Given the description of an element on the screen output the (x, y) to click on. 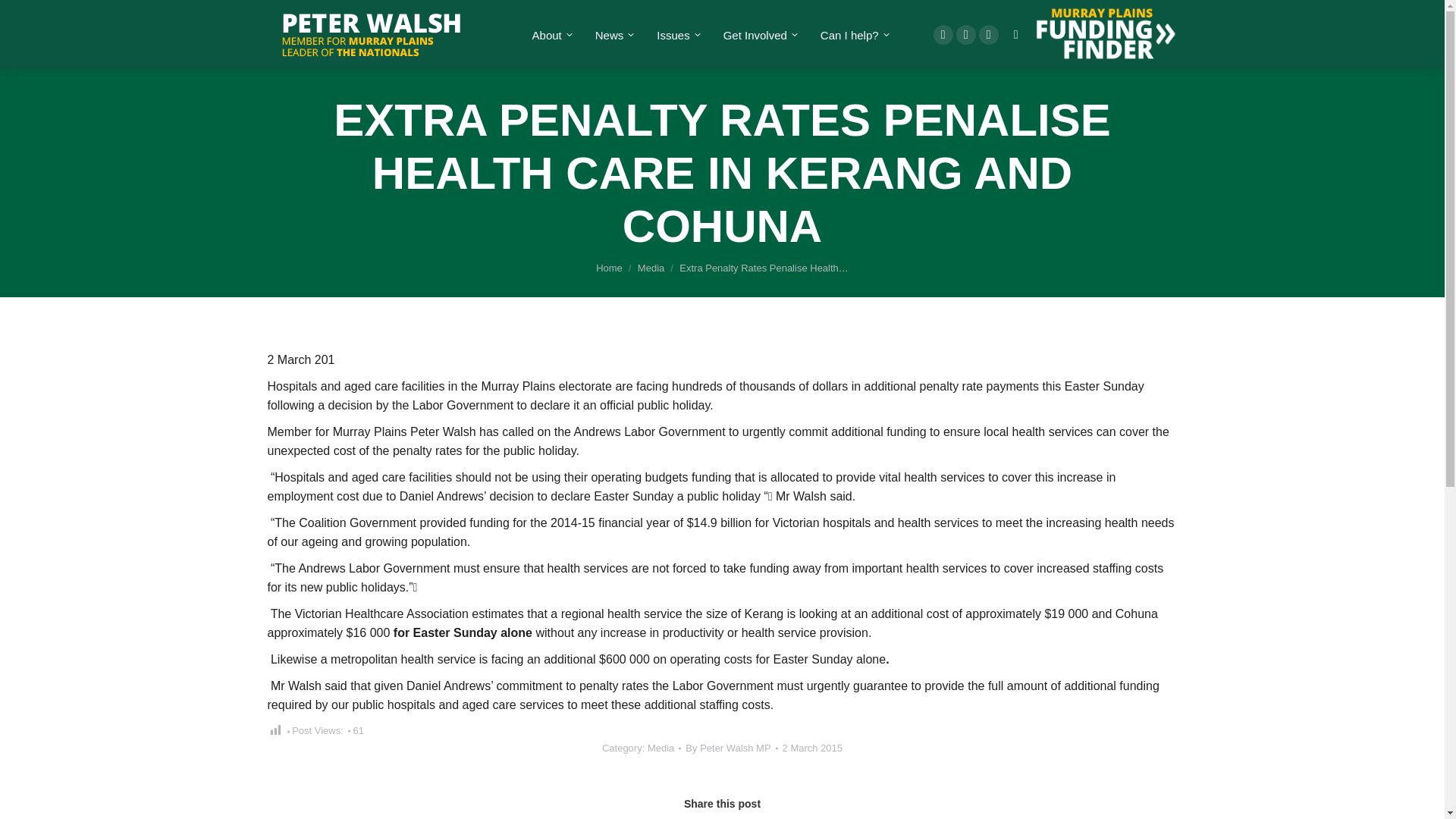
Go! (24, 16)
Instagram page opens in new window (988, 35)
Facebook page opens in new window (943, 35)
Home (609, 267)
Facebook page opens in new window (943, 35)
X page opens in new window (965, 35)
About (550, 34)
12:00 am (813, 747)
Issues (676, 34)
News (612, 34)
Get Involved (758, 34)
X page opens in new window (965, 35)
Media (650, 267)
Instagram page opens in new window (988, 35)
View all posts by Peter Walsh MP (731, 747)
